Given the description of an element on the screen output the (x, y) to click on. 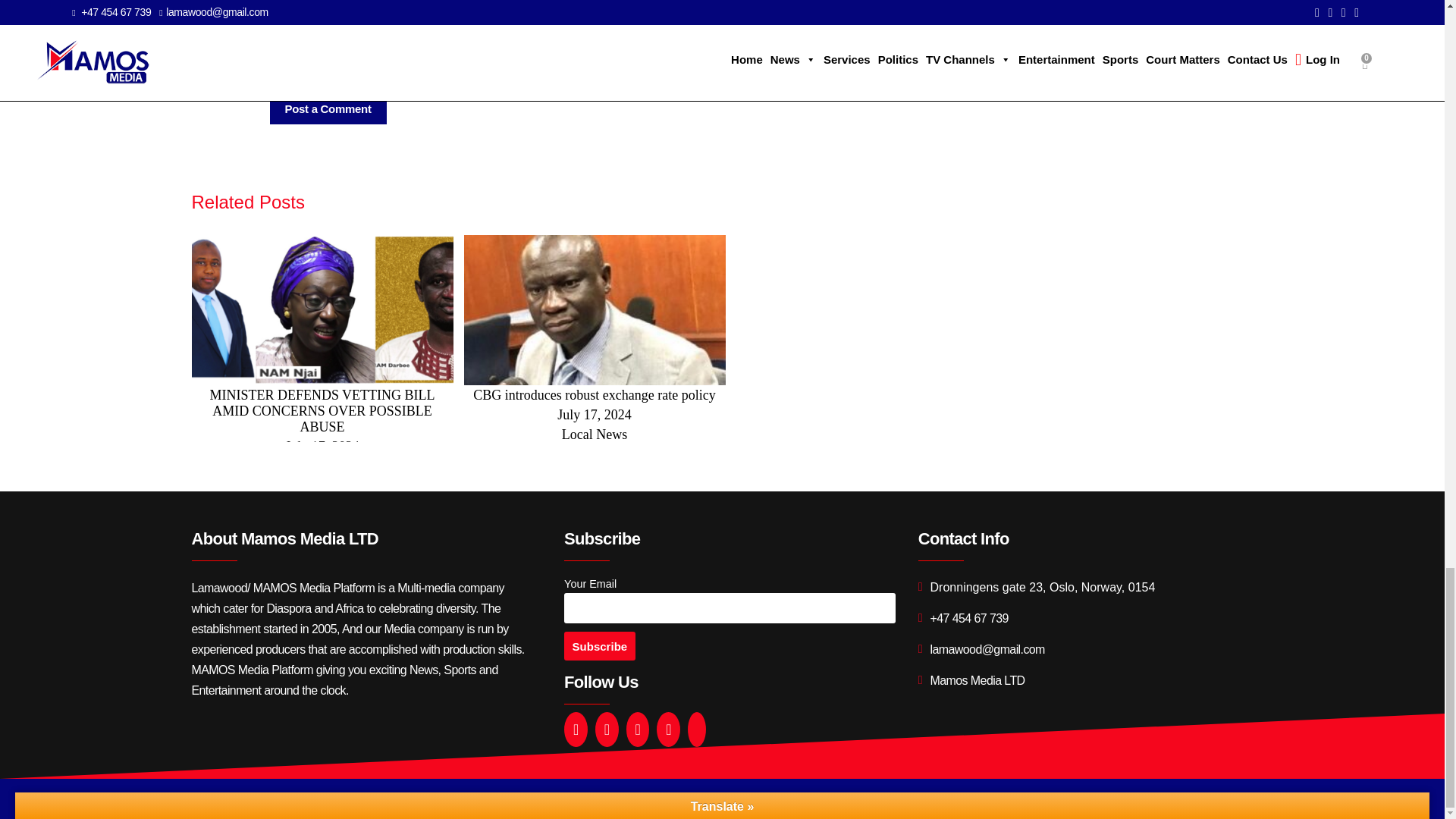
Subscribe (599, 645)
yes (277, 73)
Post a Comment (328, 108)
